Given the description of an element on the screen output the (x, y) to click on. 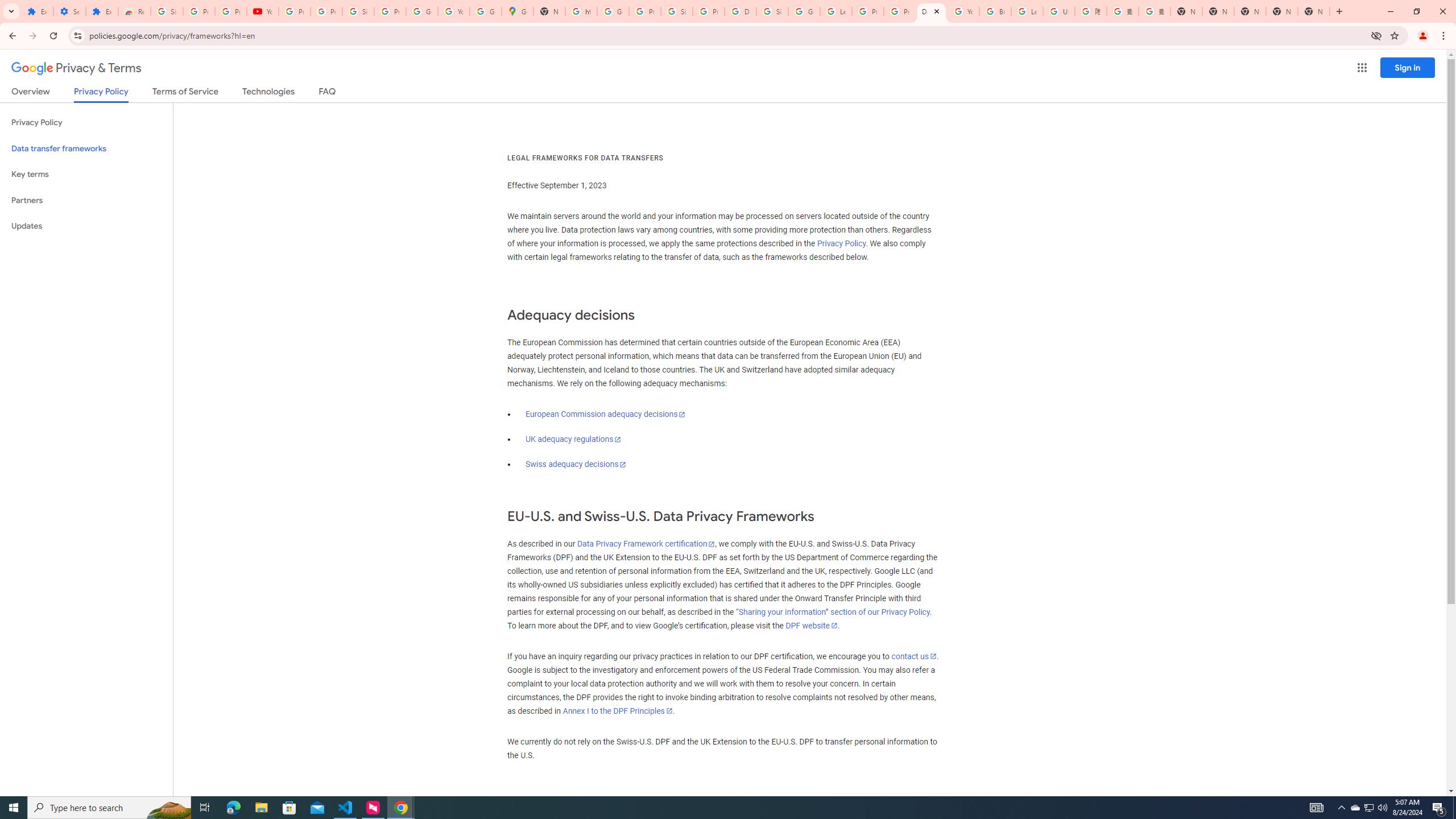
European Commission adequacy decisions (605, 414)
YouTube (963, 11)
https://scholar.google.com/ (581, 11)
Sign in - Google Accounts (358, 11)
Privacy Help Center - Policies Help (868, 11)
